Given the description of an element on the screen output the (x, y) to click on. 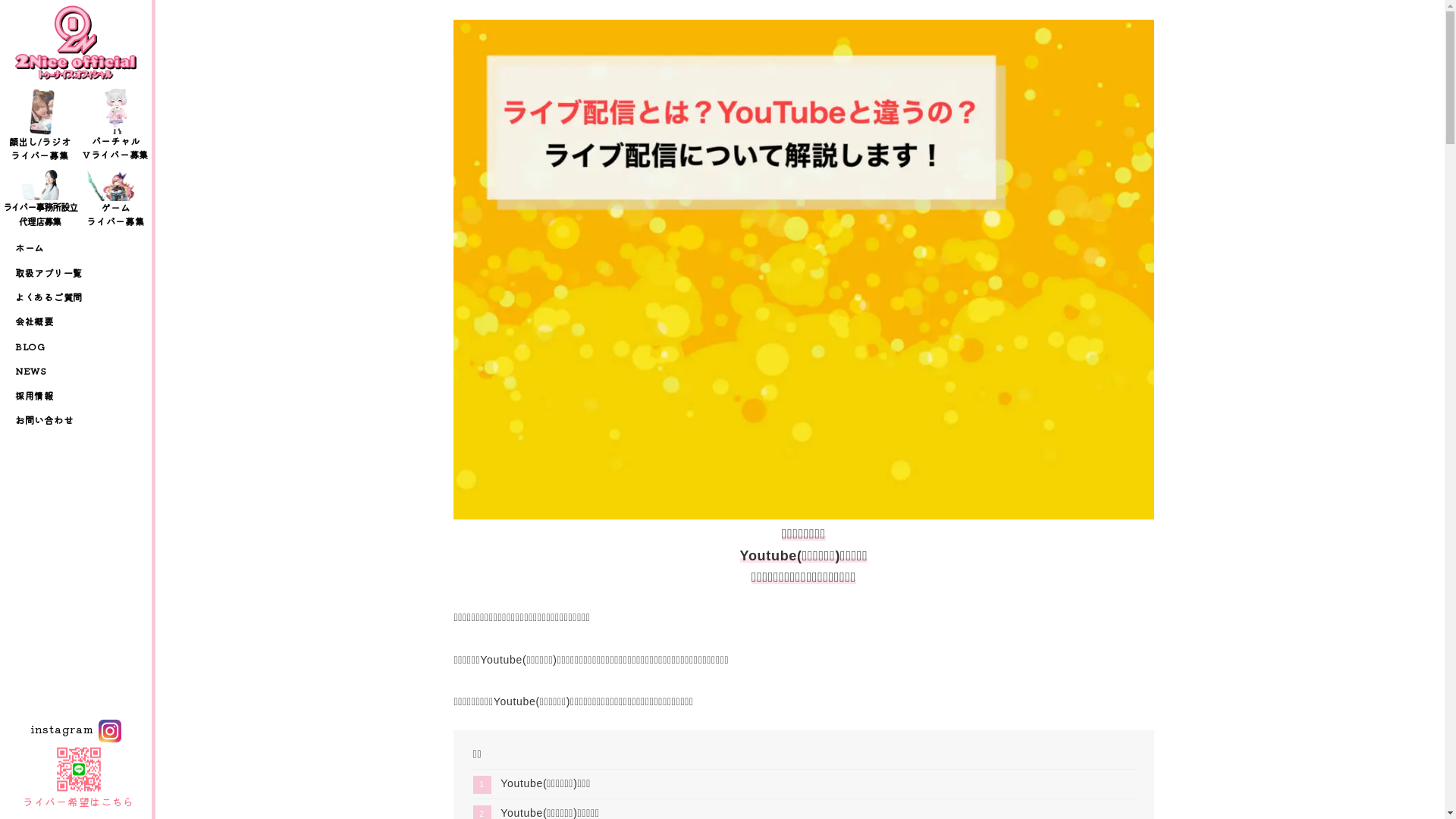
NEWS Element type: text (75, 370)
BLOG Element type: text (75, 346)
